Given the description of an element on the screen output the (x, y) to click on. 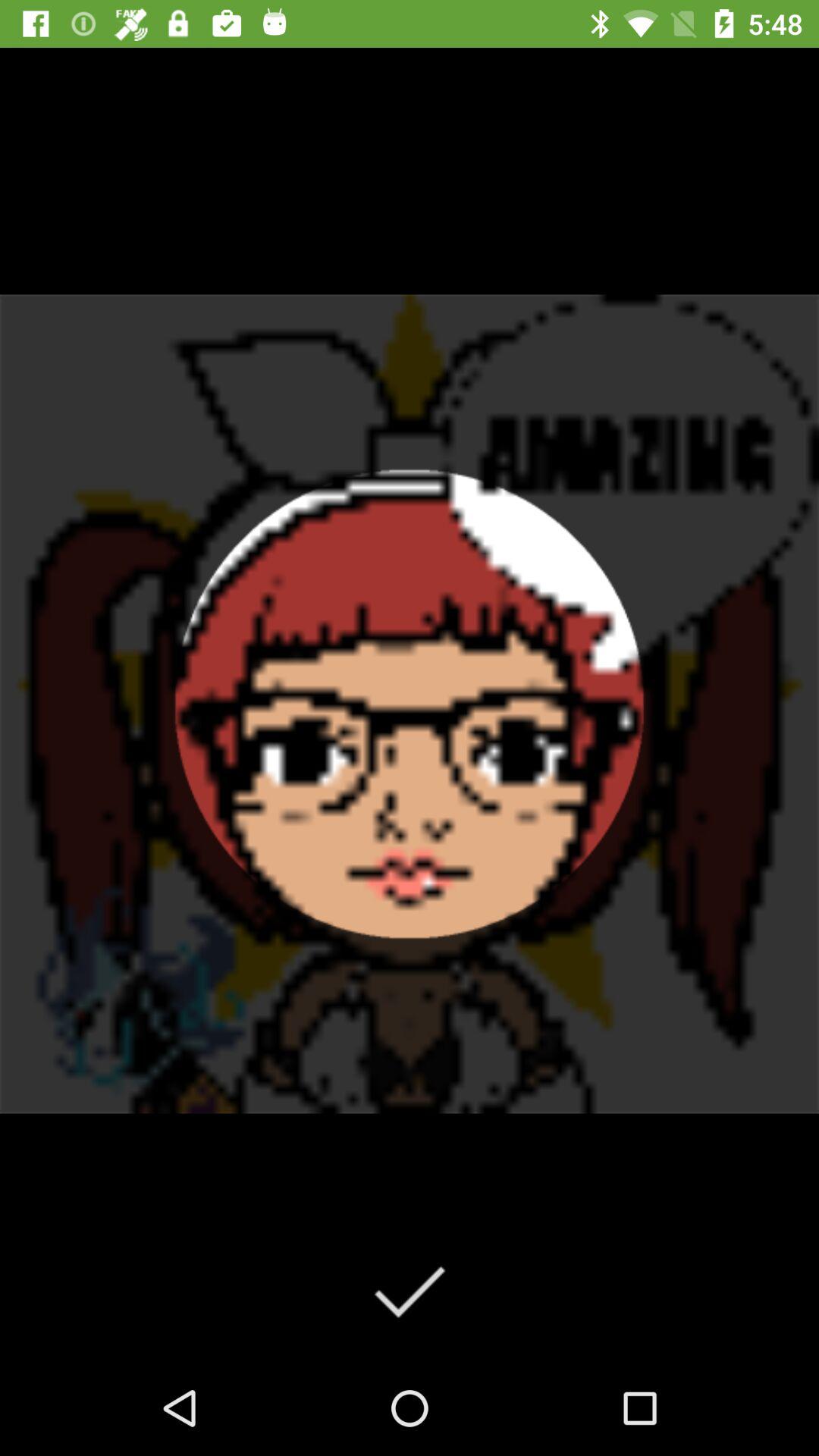
confirm crop area (408, 1290)
